Given the description of an element on the screen output the (x, y) to click on. 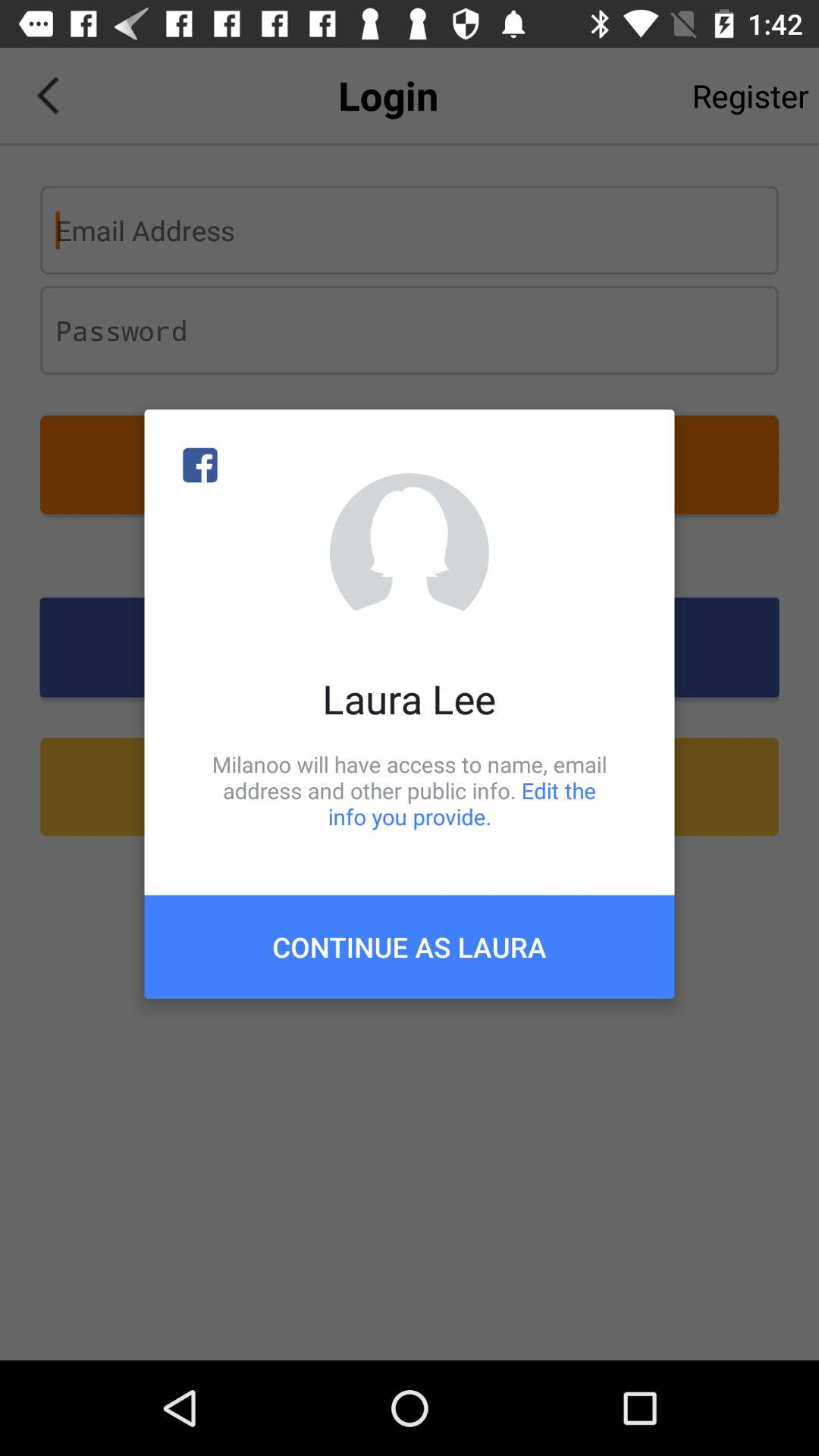
press icon above the continue as laura icon (409, 790)
